Given the description of an element on the screen output the (x, y) to click on. 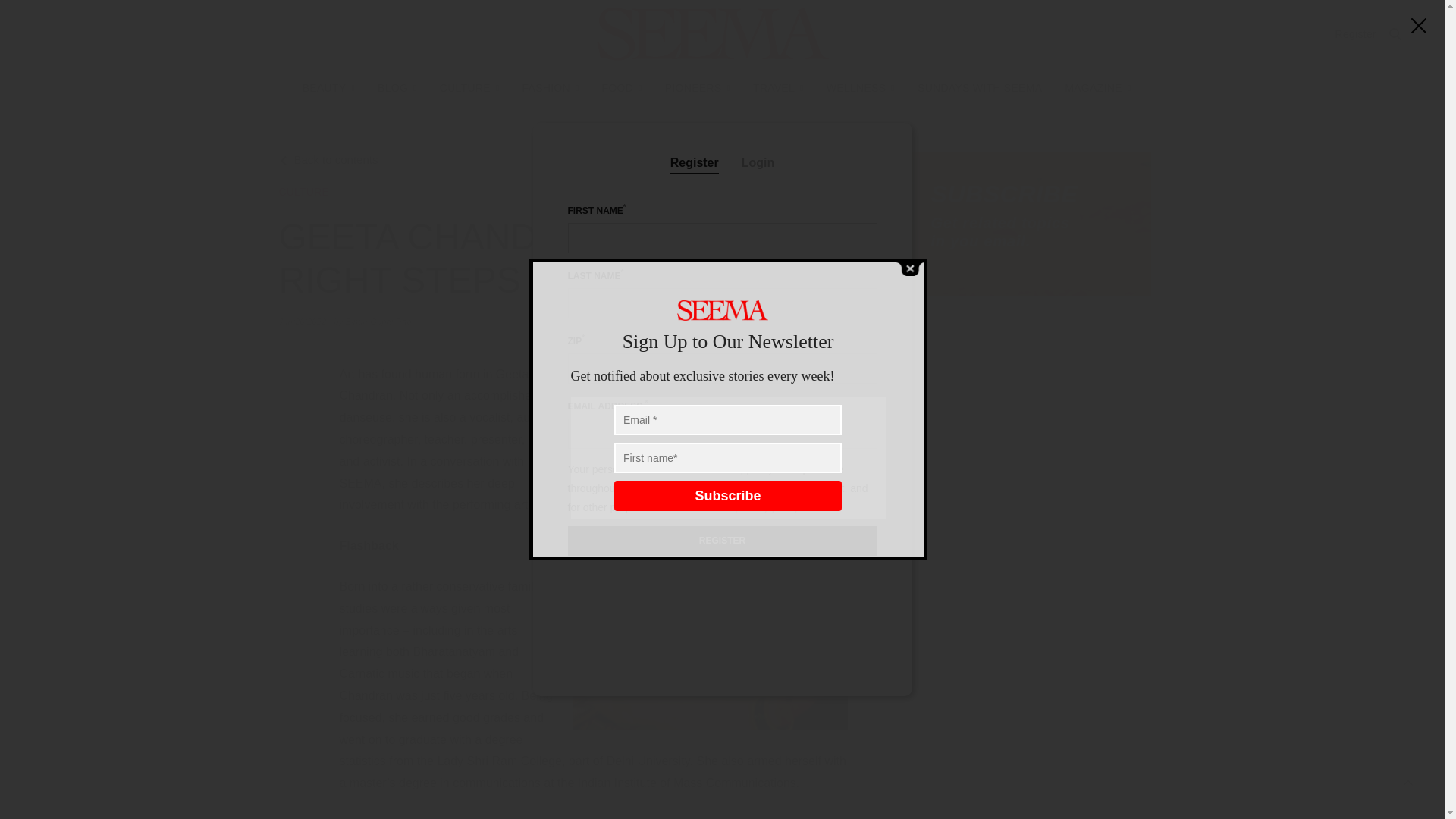
FASHION (549, 87)
PIONEERS (697, 87)
Close (909, 268)
Register (1355, 33)
BLOG (396, 87)
Seema (712, 33)
BEAUTY (328, 87)
Subscribe (727, 495)
TRAVEL (777, 87)
SUNDAYS WITH SEEMA (979, 87)
Scroll To Top (1408, 782)
WELLNESS (861, 87)
CULTURE (469, 87)
FOOD (622, 87)
MAGAZINE (1097, 87)
